Given the description of an element on the screen output the (x, y) to click on. 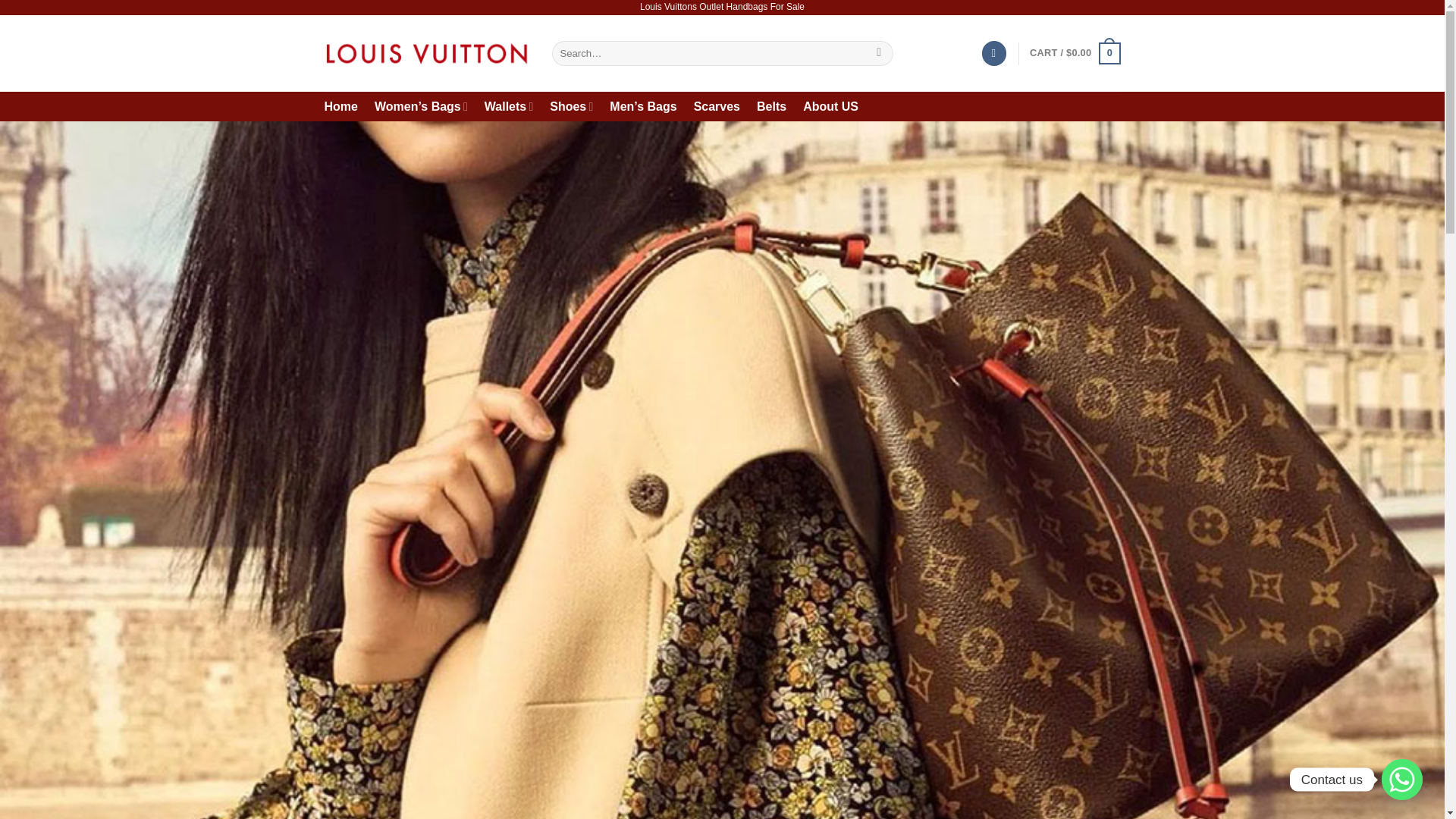
Cart (1074, 53)
Search (878, 53)
Wallets (508, 106)
Home (341, 106)
Louis Vuitton Outlet Handbags - Cheap Louis Vuitton Online (426, 53)
Shoes (571, 106)
